Given the description of an element on the screen output the (x, y) to click on. 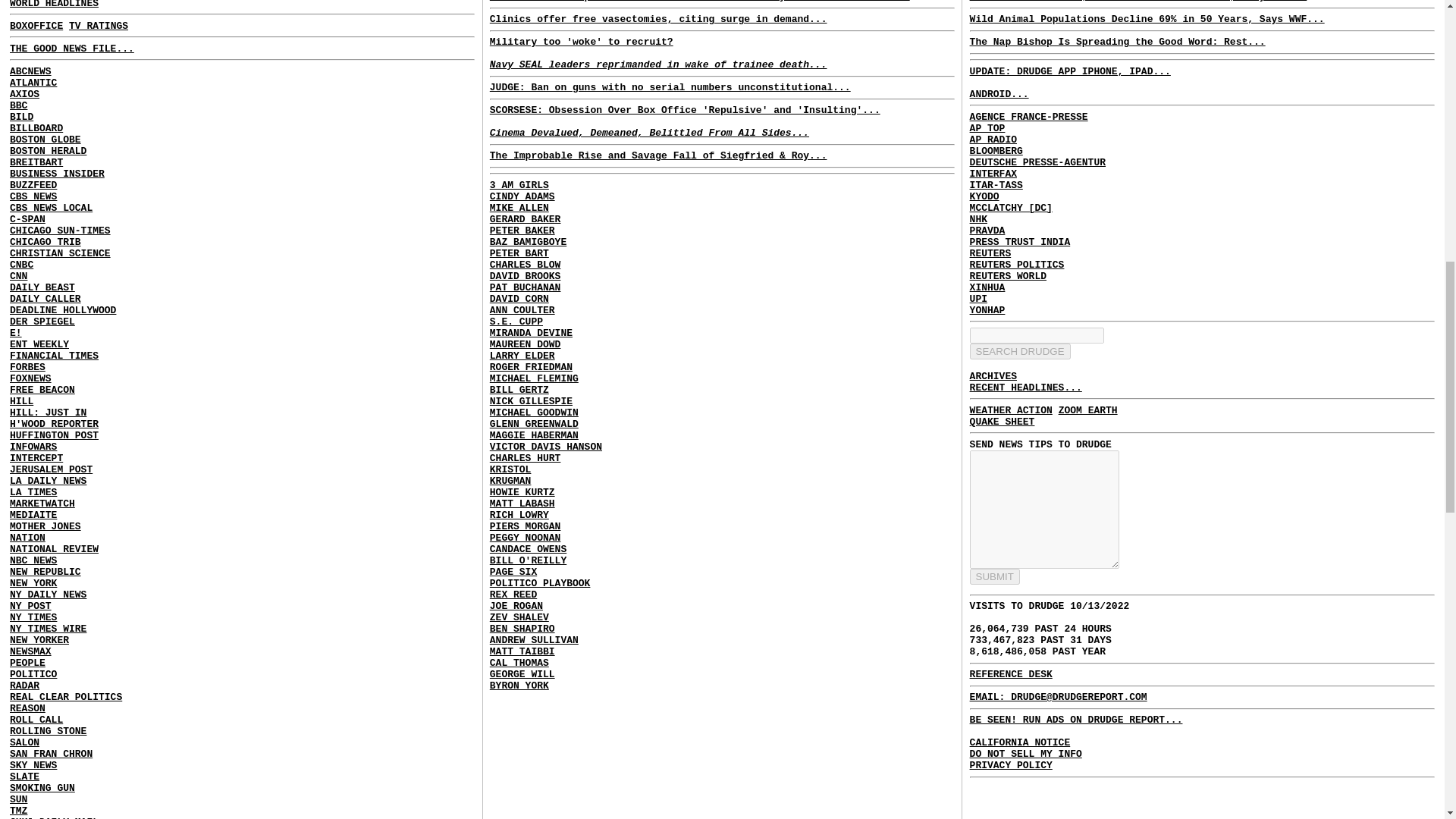
SEARCH DRUDGE (1019, 350)
BILD (21, 116)
BBC (18, 105)
BOXOFFICE (36, 25)
AXIOS (24, 93)
THE GOOD NEWS FILE... (71, 48)
WORLD HEADLINES (54, 4)
TV RATINGS (98, 25)
BILLBOARD (36, 128)
SUBMIT (994, 576)
